Given the description of an element on the screen output the (x, y) to click on. 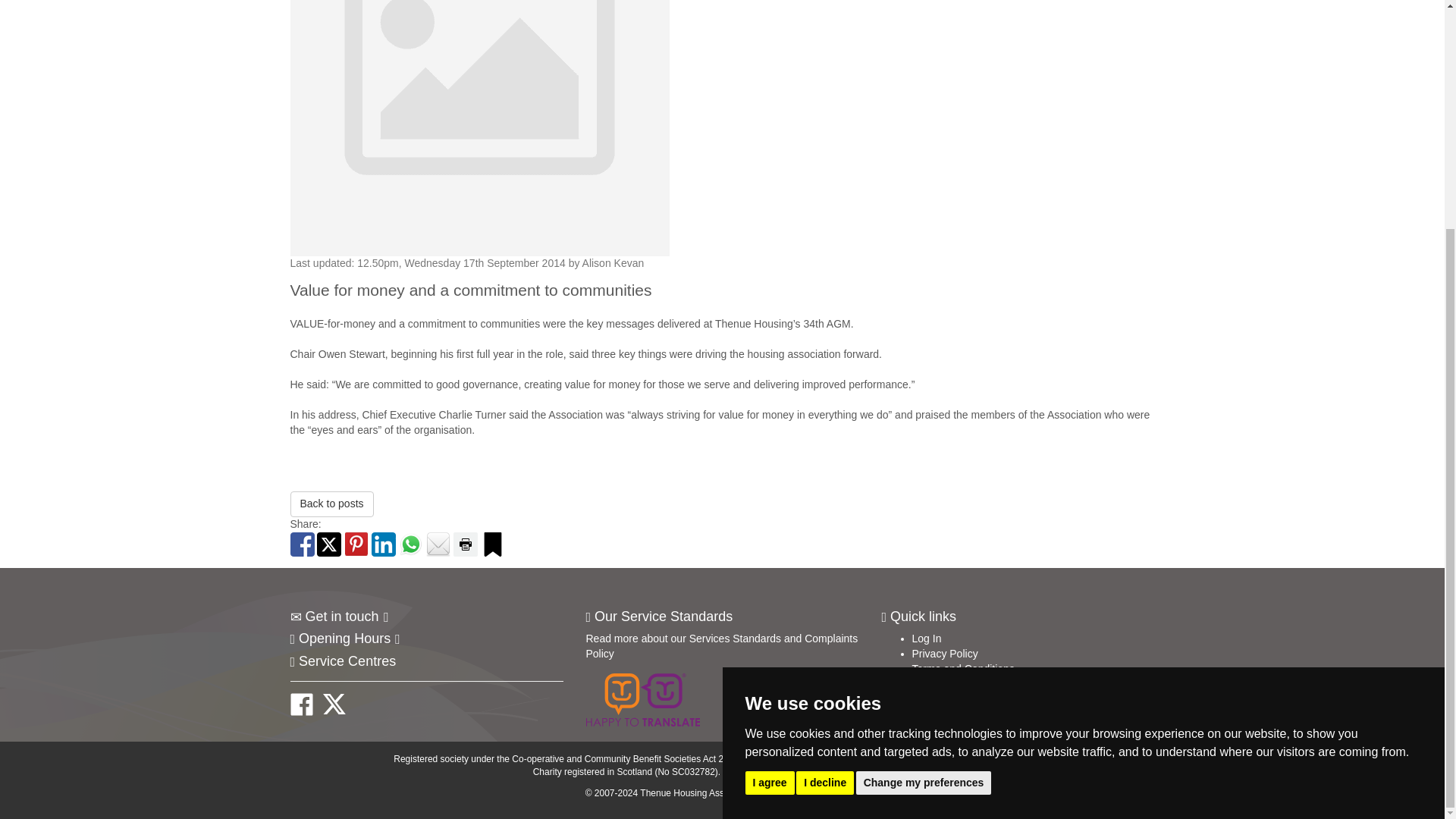
I decline (824, 474)
I agree (768, 474)
Change my preferences (923, 474)
